Given the description of an element on the screen output the (x, y) to click on. 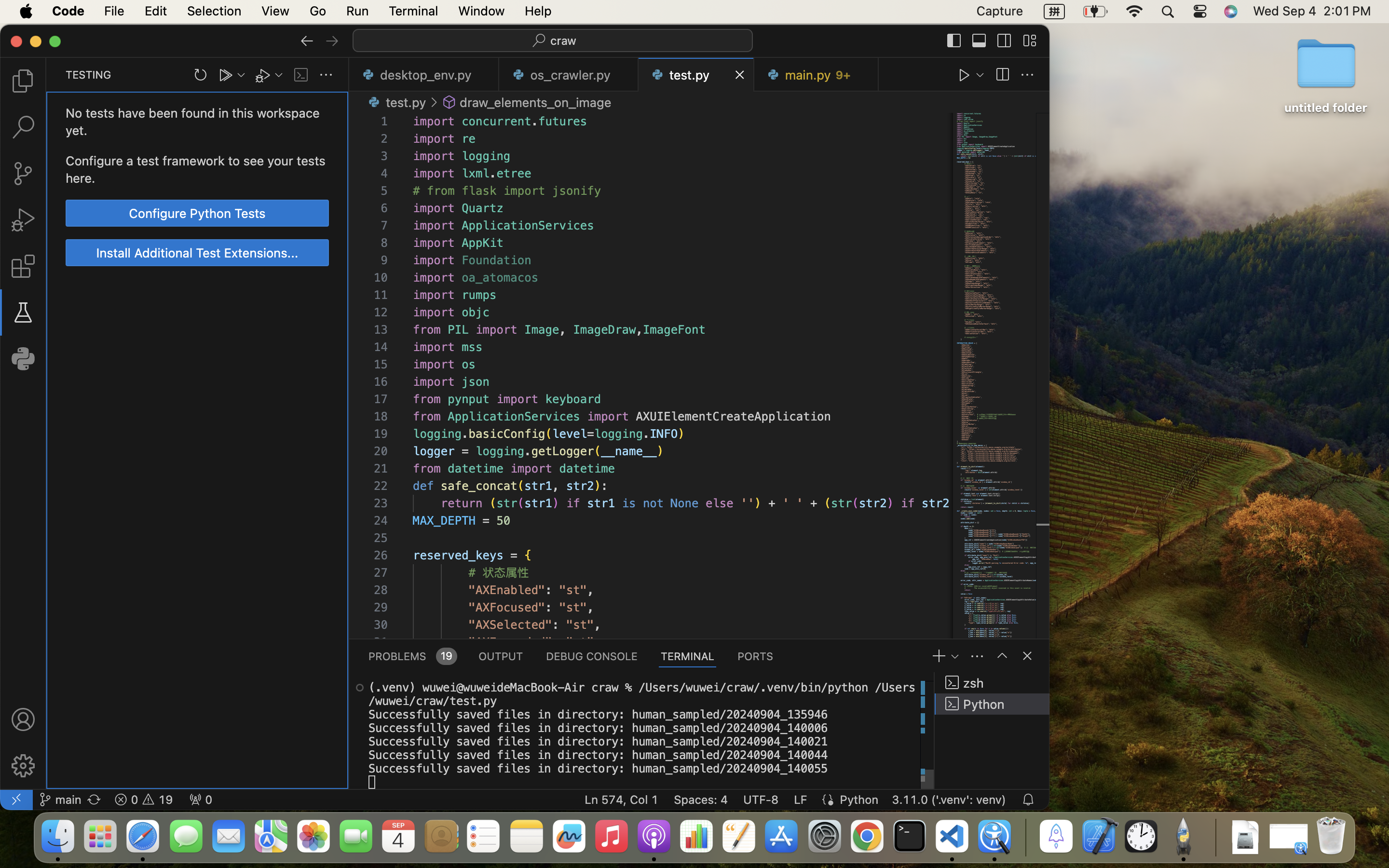
0 PORTS Element type: AXRadioButton (755, 655)
 Element type: AXStaticText (1026, 74)
19  0  Element type: AXButton (143, 799)
0 DEBUG CONSOLE Element type: AXRadioButton (591, 655)
 Element type: AXButton (1026, 655)
